Given the description of an element on the screen output the (x, y) to click on. 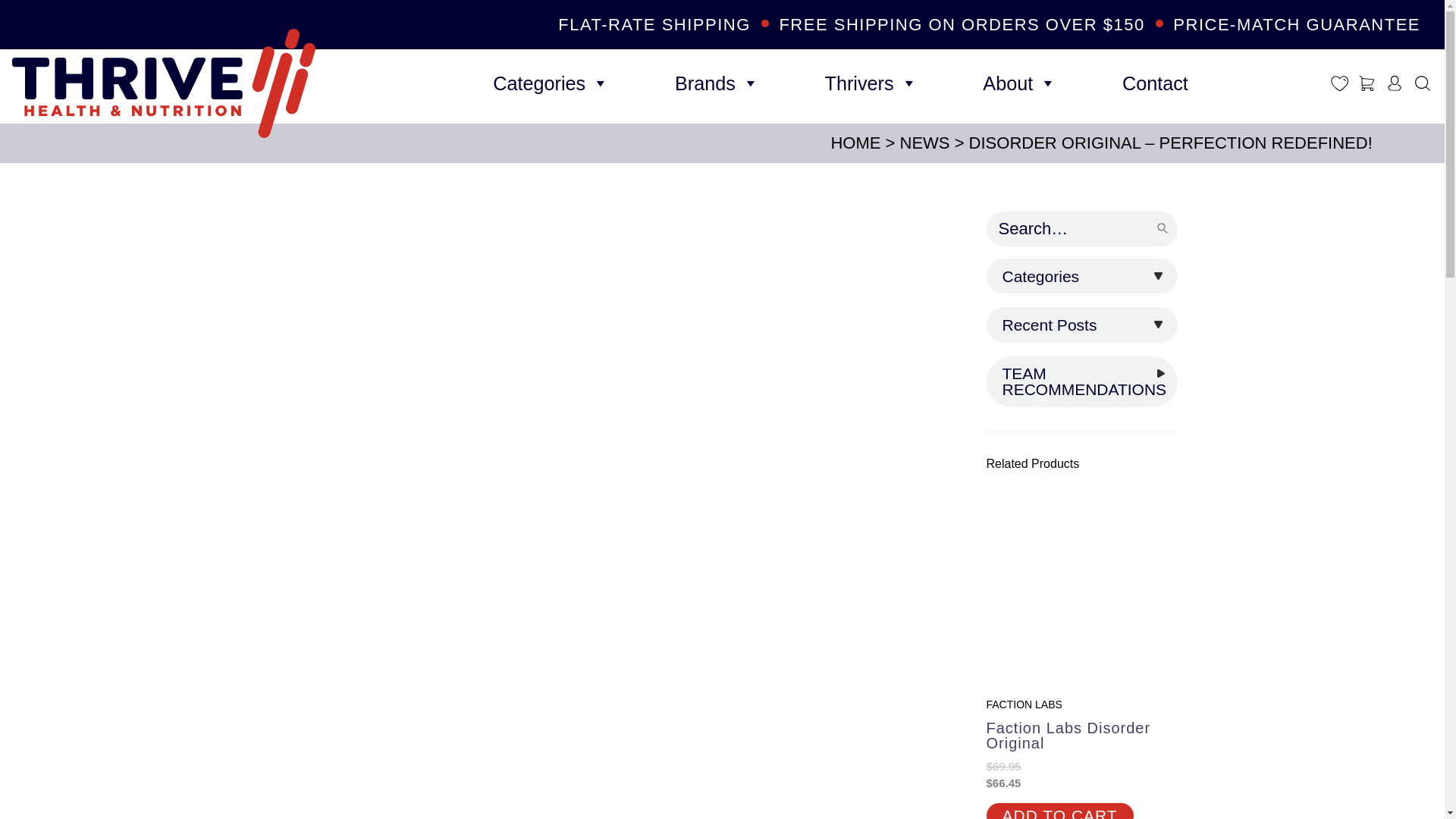
My Account (1394, 83)
PRICE-MATCH GUARANTEE (1297, 24)
Categories (549, 82)
FLAT-RATE SHIPPING (654, 24)
